Given the description of an element on the screen output the (x, y) to click on. 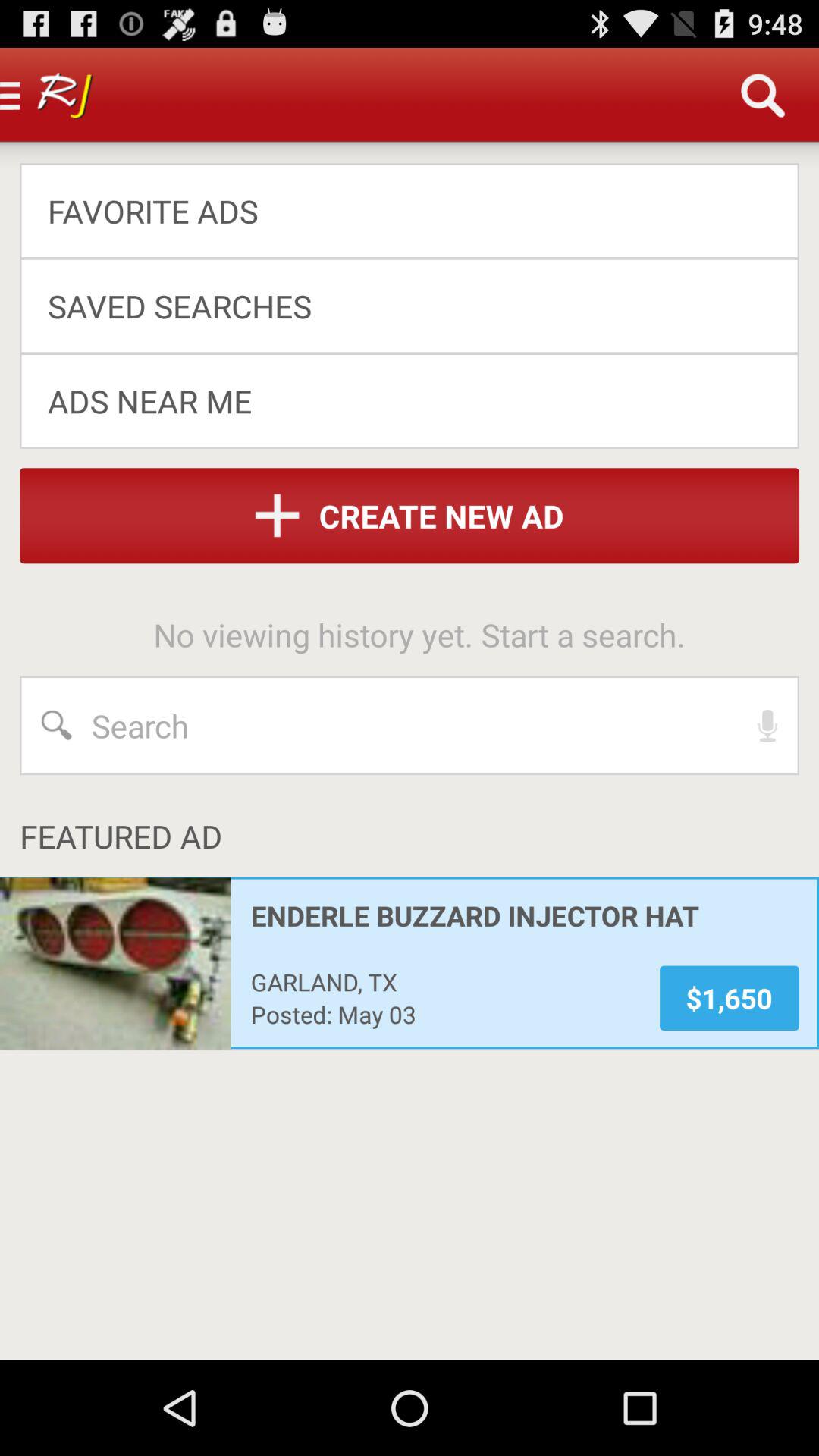
jump until the saved searches item (399, 305)
